Given the description of an element on the screen output the (x, y) to click on. 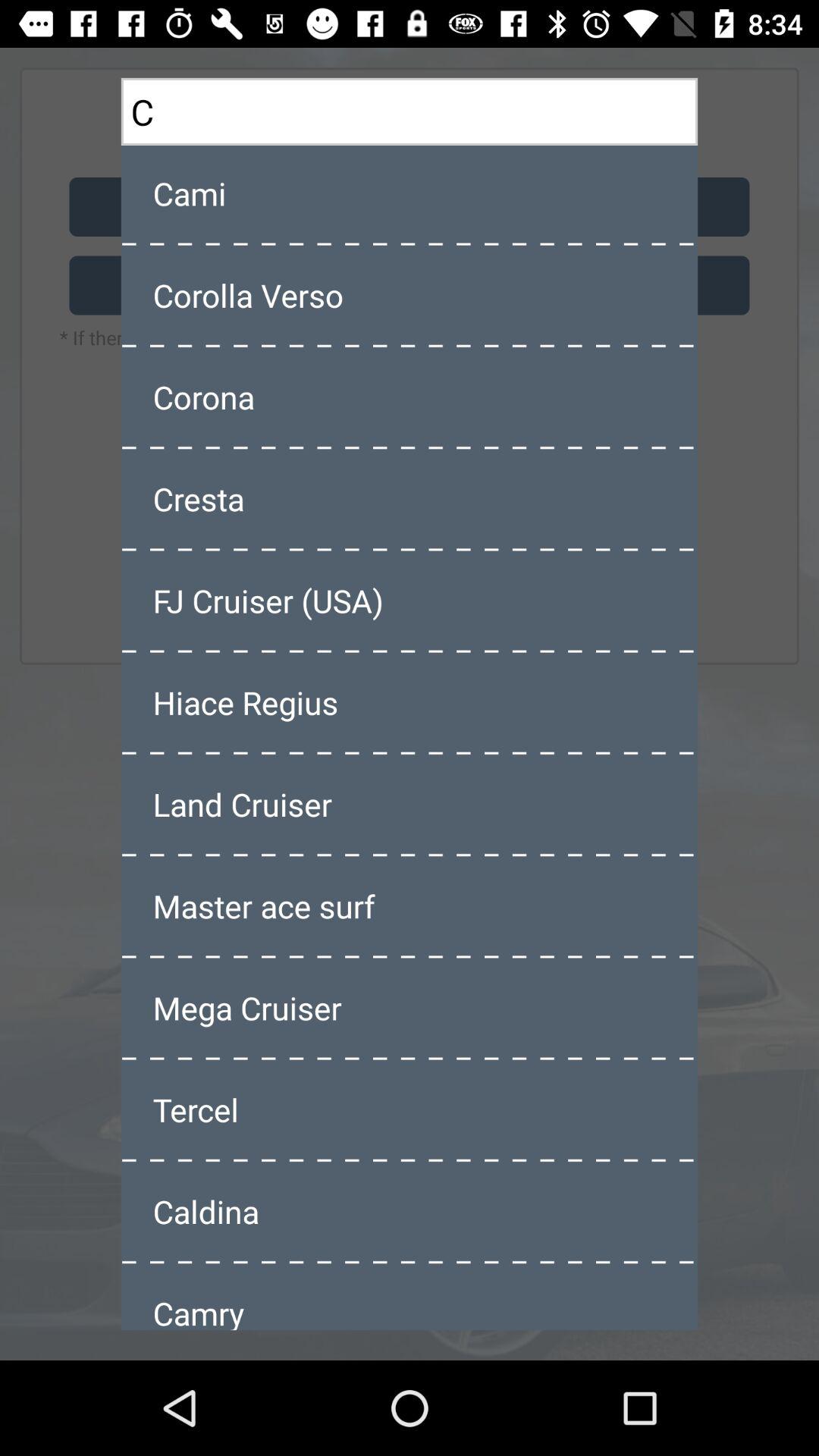
turn off item below the hiace regius icon (409, 803)
